Given the description of an element on the screen output the (x, y) to click on. 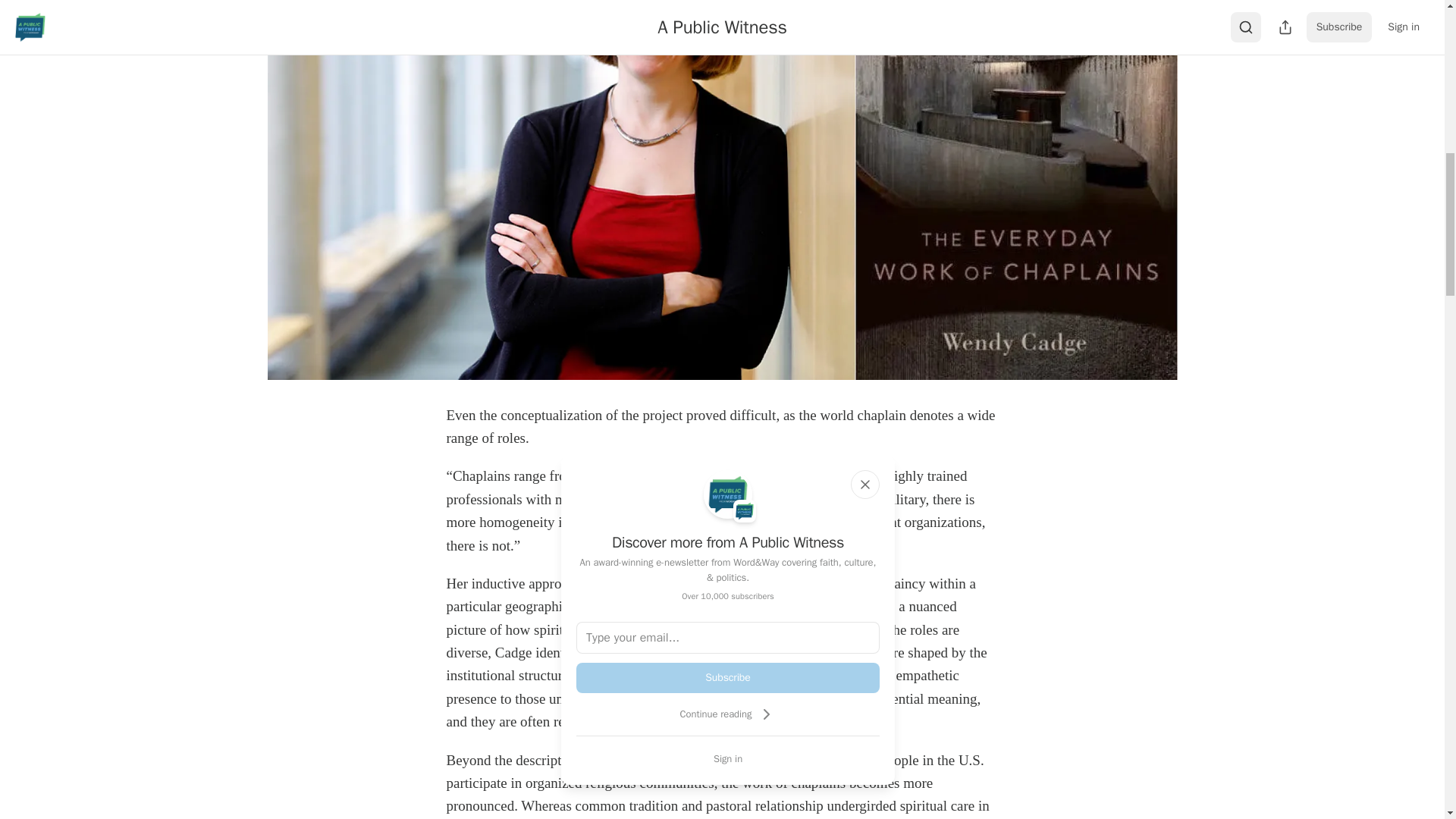
Sign in (727, 758)
Subscribe (727, 677)
